Given the description of an element on the screen output the (x, y) to click on. 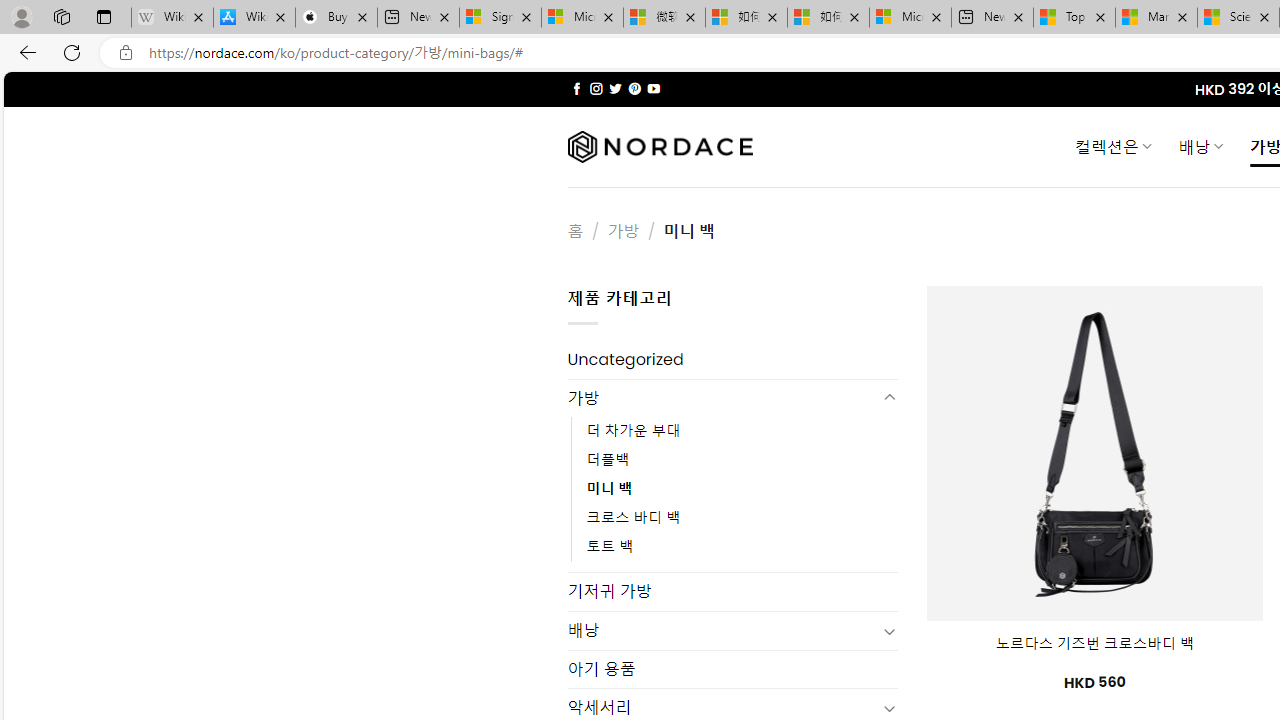
Follow on Instagram (596, 88)
